Given the description of an element on the screen output the (x, y) to click on. 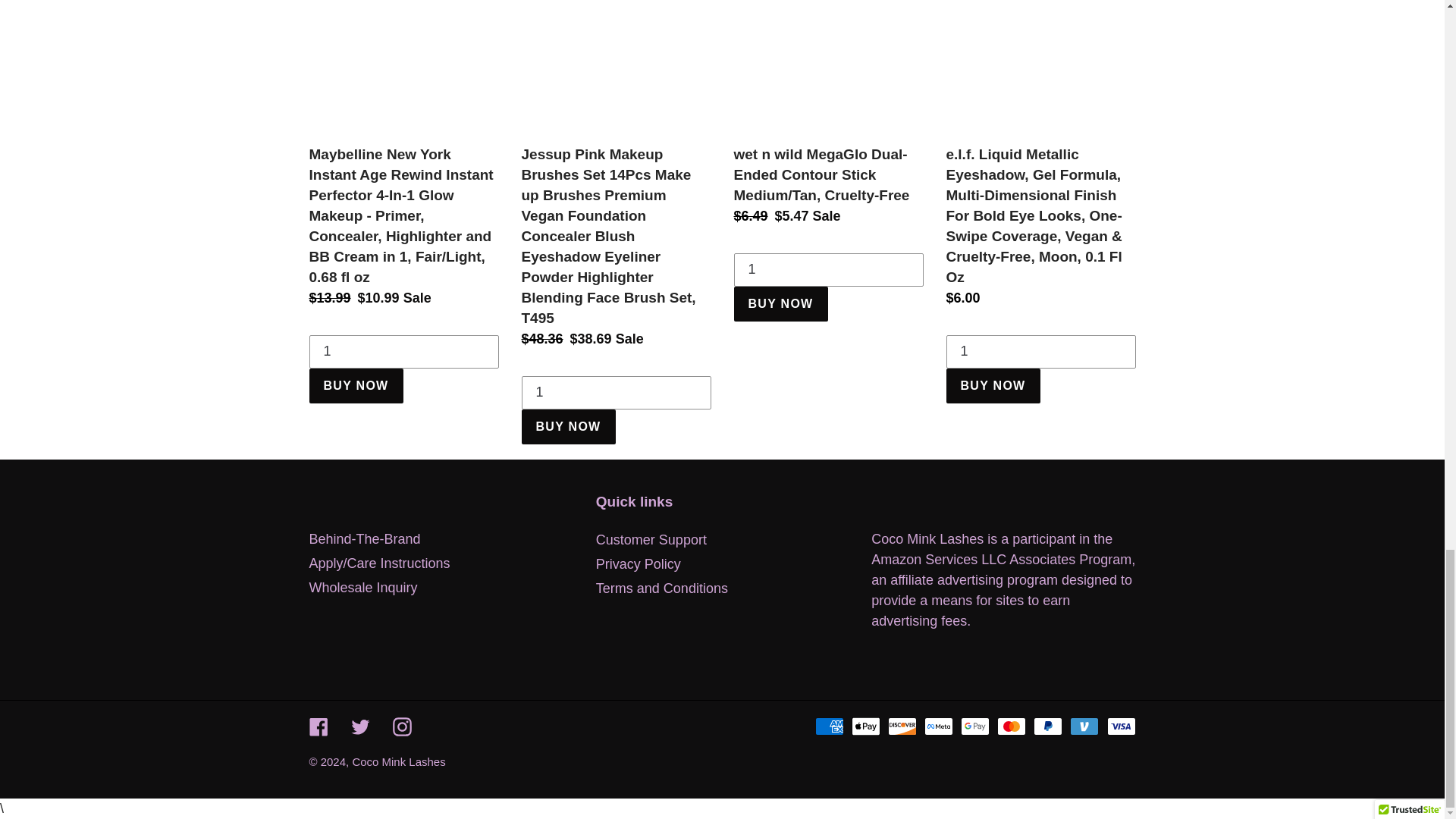
1 (1040, 351)
1 (616, 392)
1 (403, 351)
1 (828, 269)
